Given the description of an element on the screen output the (x, y) to click on. 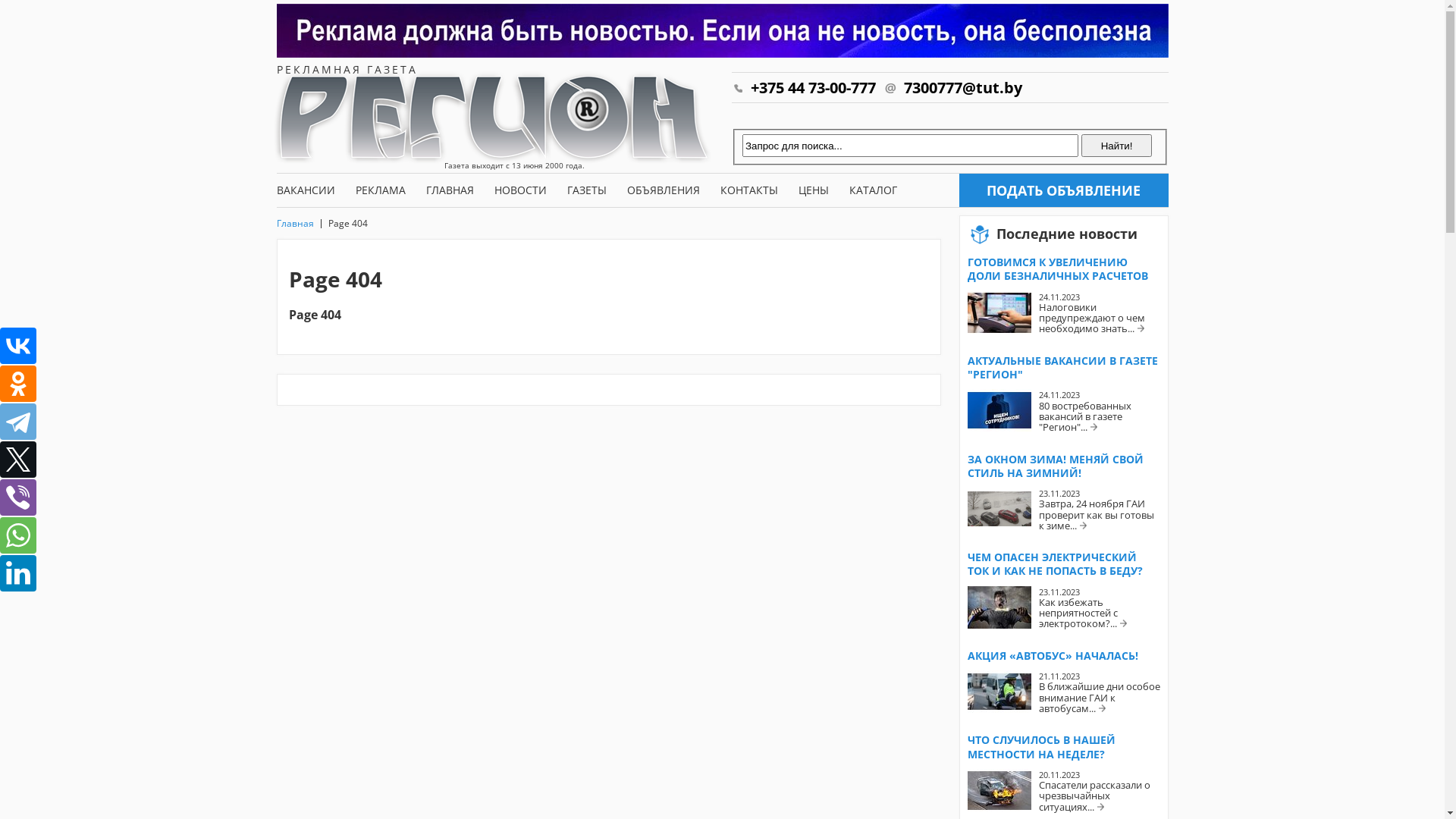
Viber Element type: hover (18, 497)
WhatsApp Element type: hover (18, 535)
Twitter Element type: hover (18, 459)
+375 44 73-00-777 Element type: text (803, 87)
7300777@tut.by Element type: text (952, 87)
Telegram Element type: hover (18, 421)
LinkedIn Element type: hover (18, 573)
